Given the description of an element on the screen output the (x, y) to click on. 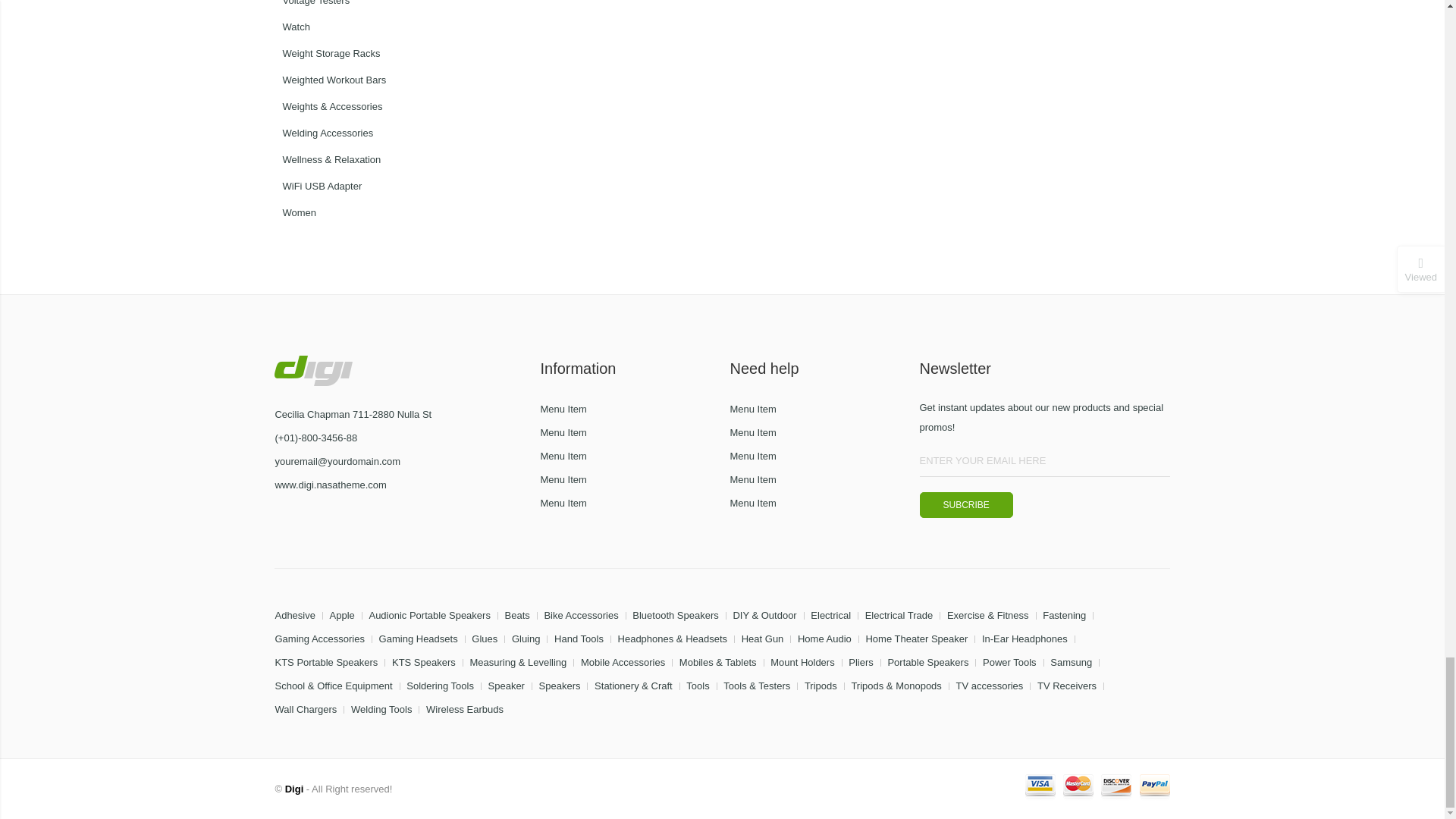
Subcribe (964, 504)
